Given the description of an element on the screen output the (x, y) to click on. 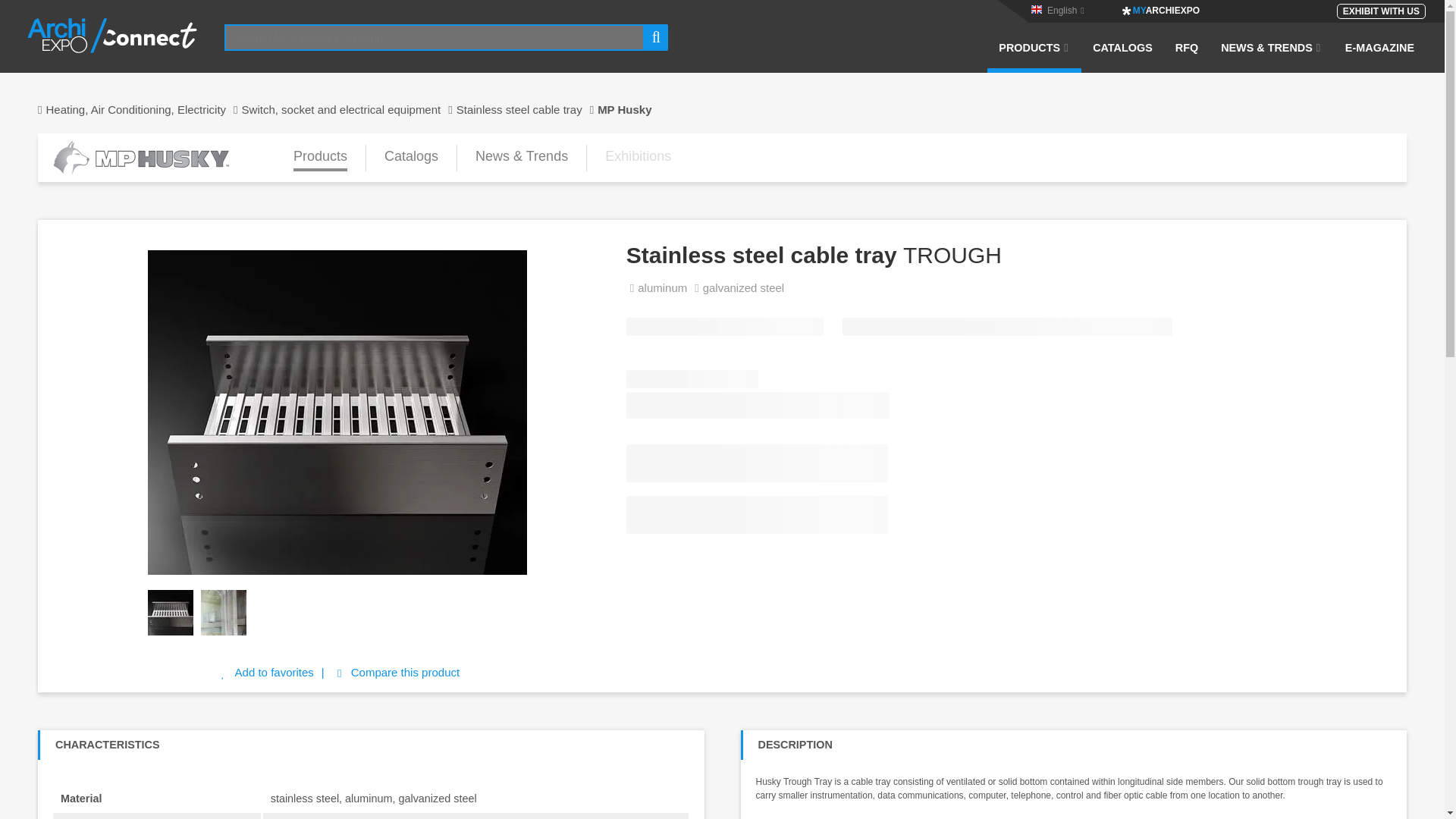
E-MAGAZINE (1379, 56)
EXHIBIT WITH US (1380, 11)
Heating, Air Conditioning, Electricity (139, 109)
Catalogs (411, 157)
Switch, socket and electrical equipment (349, 109)
Products (320, 157)
Stainless steel cable tray (526, 109)
PRODUCTS (1034, 56)
English (1061, 9)
RFQ (1186, 56)
CATALOGS (1122, 56)
